Given the description of an element on the screen output the (x, y) to click on. 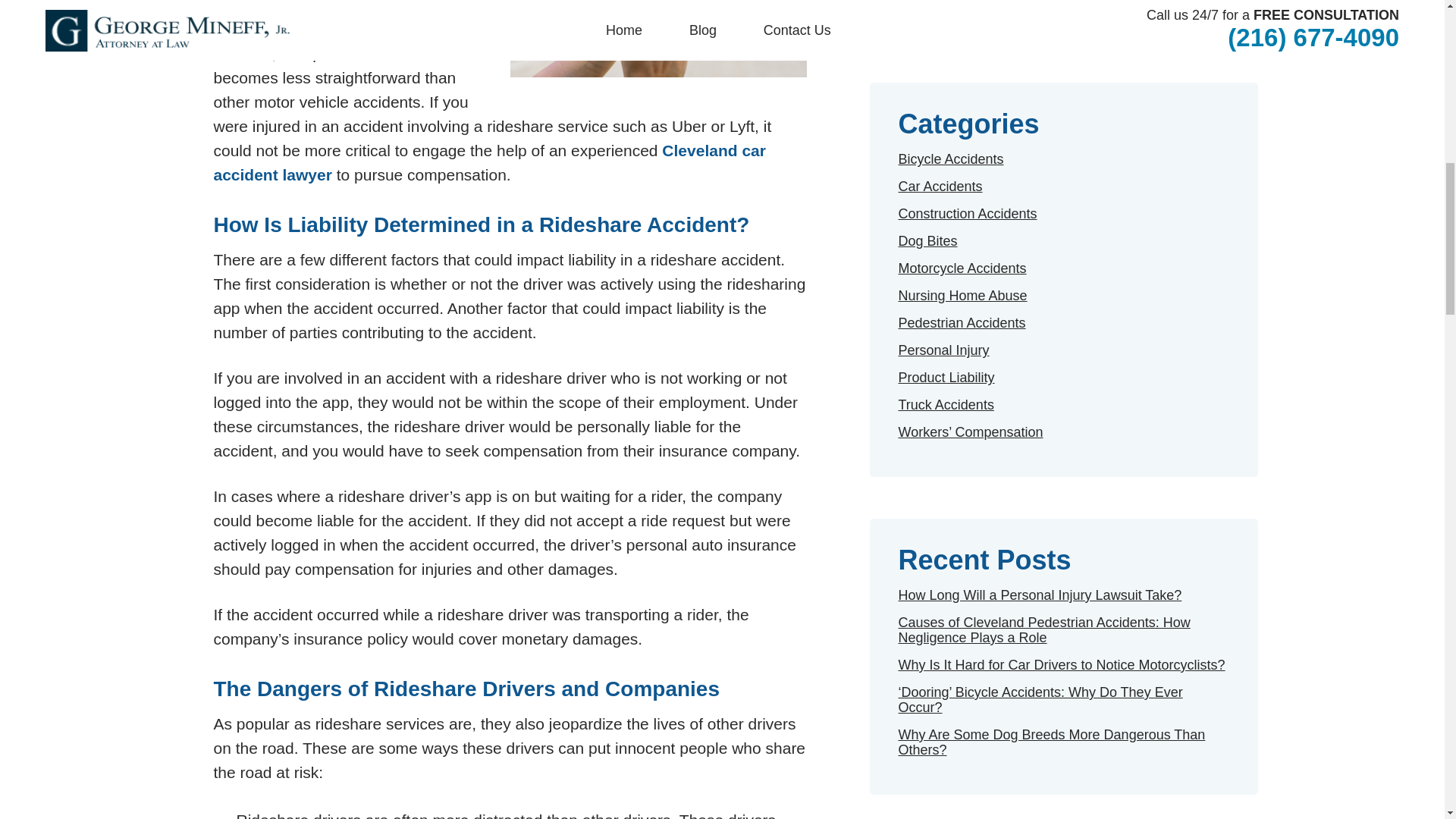
Why Is It Hard for Car Drivers to Notice Motorcyclists? (1061, 664)
How Long Will a Personal Injury Lawsuit Take? (1039, 595)
Product Liability (946, 377)
Why Are Some Dog Breeds More Dangerous Than Others? (1051, 742)
Car Accidents (939, 186)
Submit (1063, 3)
Dog Bites (927, 240)
Submit (1063, 3)
Personal Injury (943, 350)
Construction Accidents (967, 213)
Nursing Home Abuse (962, 295)
Pedestrian Accidents (961, 322)
Motorcycle Accidents (962, 268)
Bicycle Accidents (950, 159)
